Given the description of an element on the screen output the (x, y) to click on. 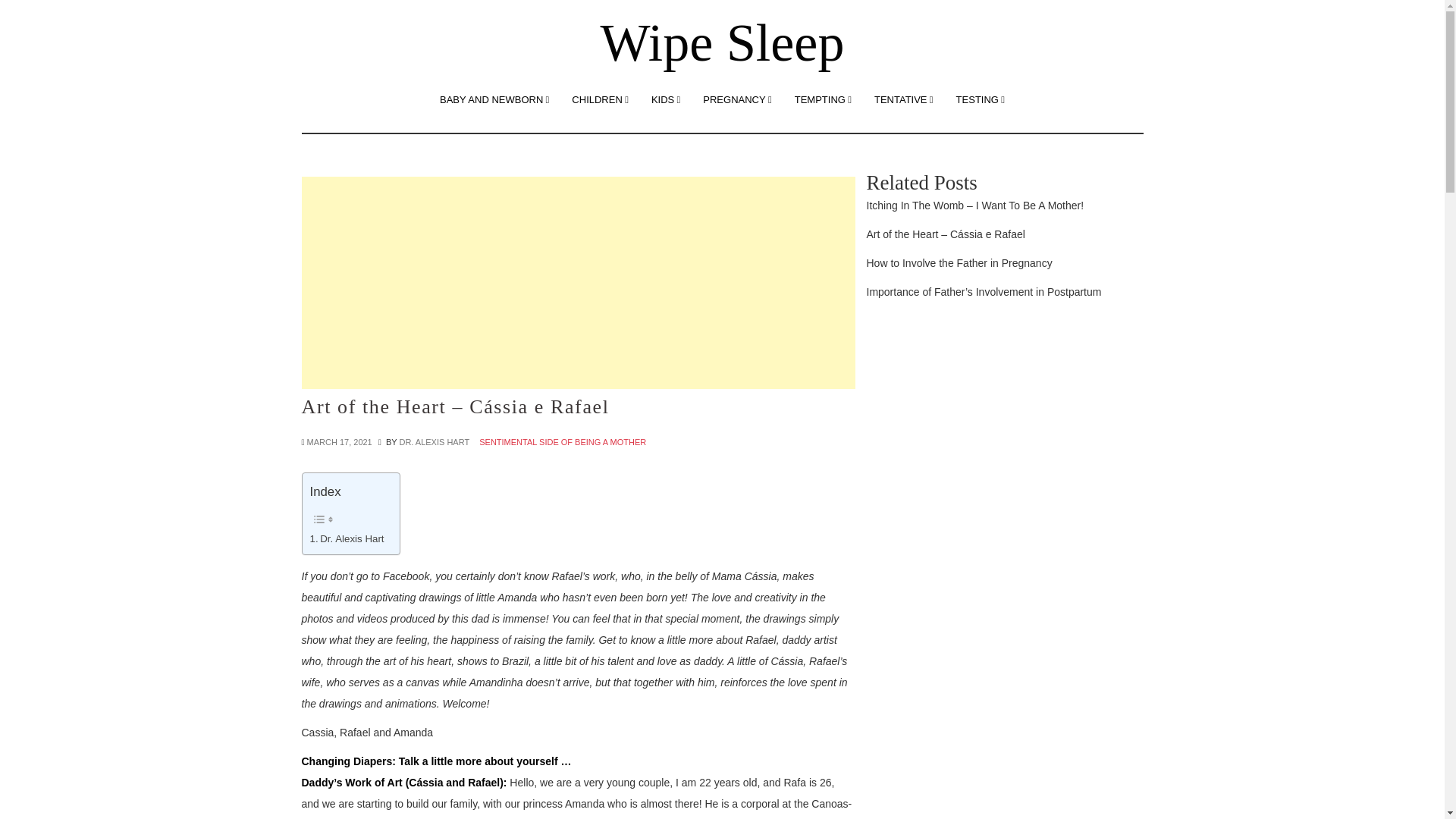
TEMPTING (823, 99)
BABY AND NEWBORN (494, 99)
KIDS (665, 99)
TENTATIVE (903, 99)
Advertisement (578, 282)
CHILDREN (600, 99)
Dr. Alexis Hart (346, 538)
Wipe Sleep (721, 42)
PREGNANCY (737, 99)
